Given the description of an element on the screen output the (x, y) to click on. 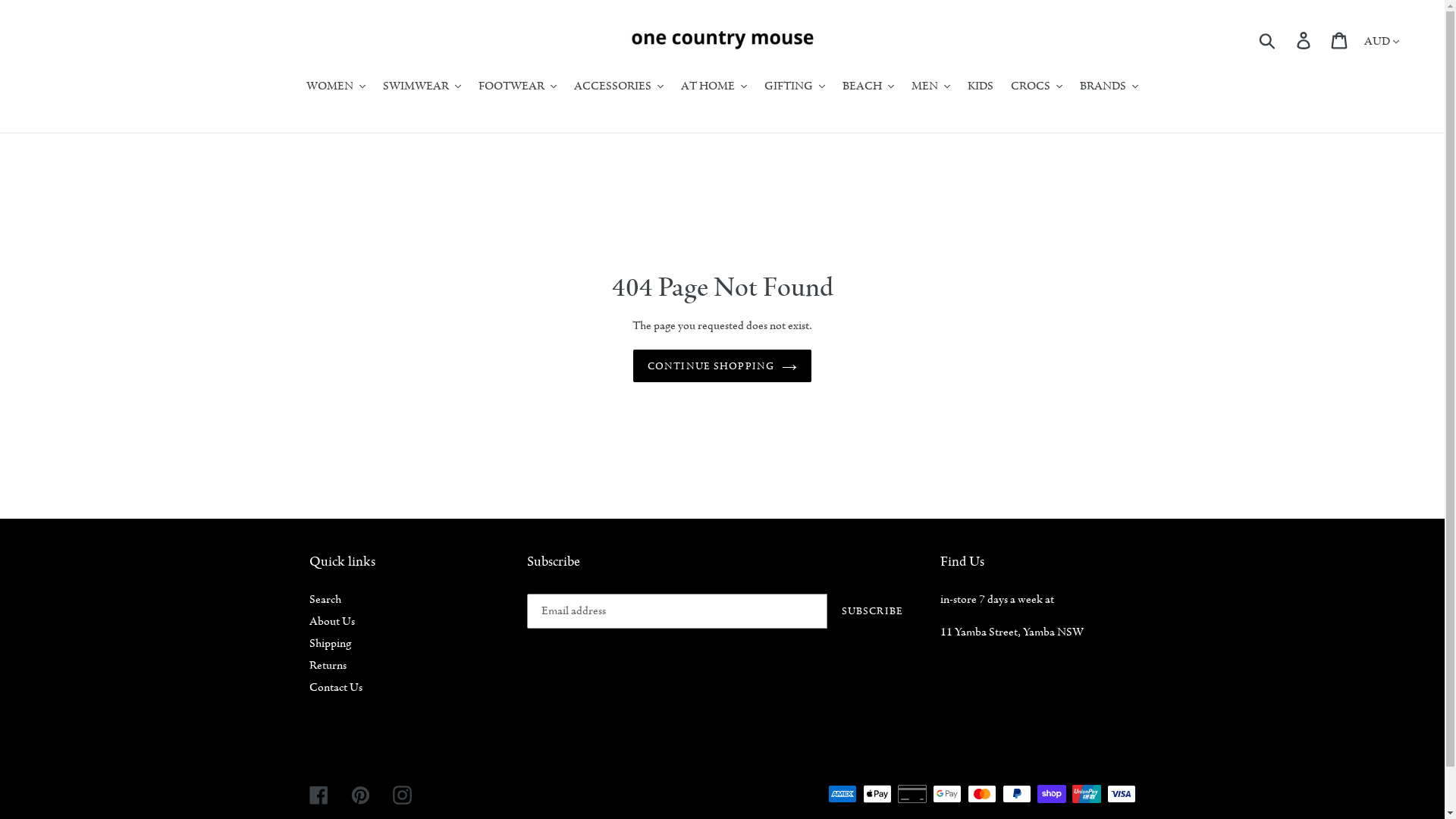
Search Element type: text (325, 598)
CONTINUE SHOPPING Element type: text (722, 365)
Submit Element type: text (1267, 39)
Log in Element type: text (1304, 39)
Contact Us Element type: text (335, 686)
Returns Element type: text (327, 664)
Shipping Element type: text (330, 642)
Facebook Element type: text (318, 793)
SUBSCRIBE Element type: text (872, 610)
Pinterest Element type: text (359, 793)
About Us Element type: text (331, 620)
Cart Element type: text (1340, 39)
Instagram Element type: text (401, 793)
KIDS Element type: text (980, 86)
